Given the description of an element on the screen output the (x, y) to click on. 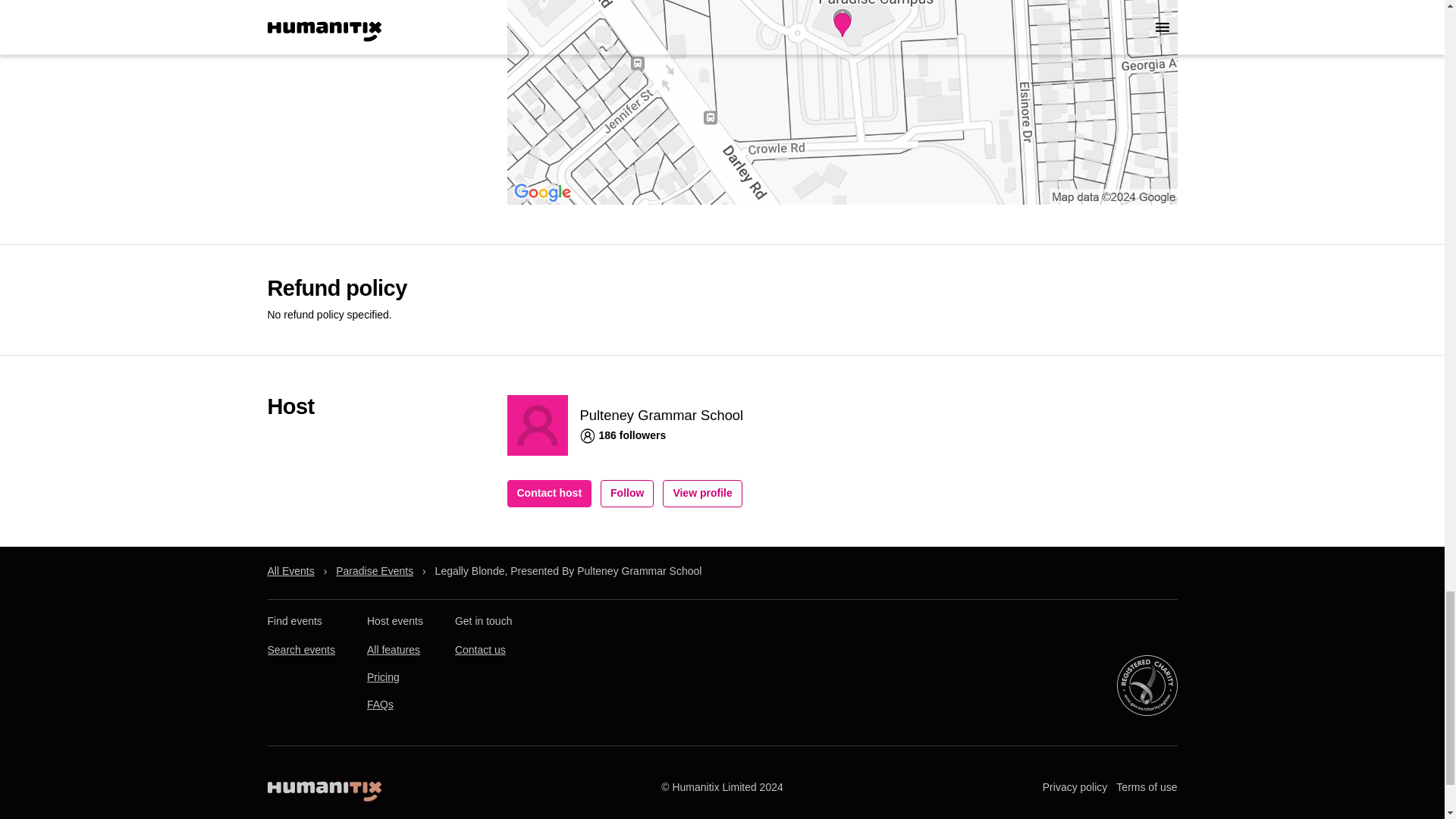
All features (393, 649)
All Events (290, 570)
Pricing (382, 677)
Contact host (548, 492)
Follow (626, 492)
Paradise Events (374, 570)
Legally Blonde, Presented By Pulteney Grammar School (568, 570)
View profile (701, 492)
Search events (300, 649)
